Given the description of an element on the screen output the (x, y) to click on. 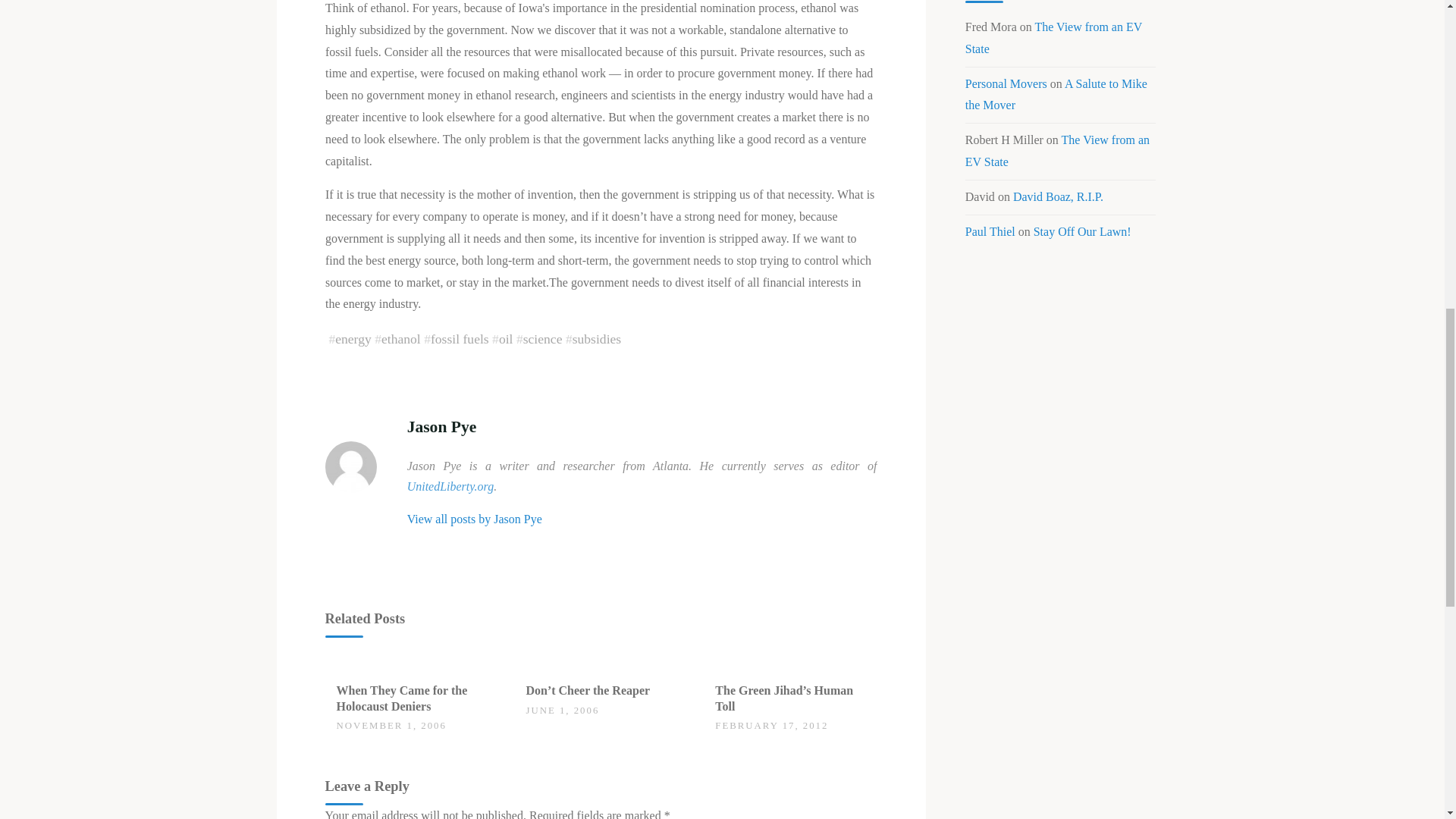
oil (504, 338)
energy (352, 338)
science (542, 338)
When They Came for the Holocaust Deniers (401, 697)
fossil fuels (458, 338)
ethanol (400, 338)
